Given the description of an element on the screen output the (x, y) to click on. 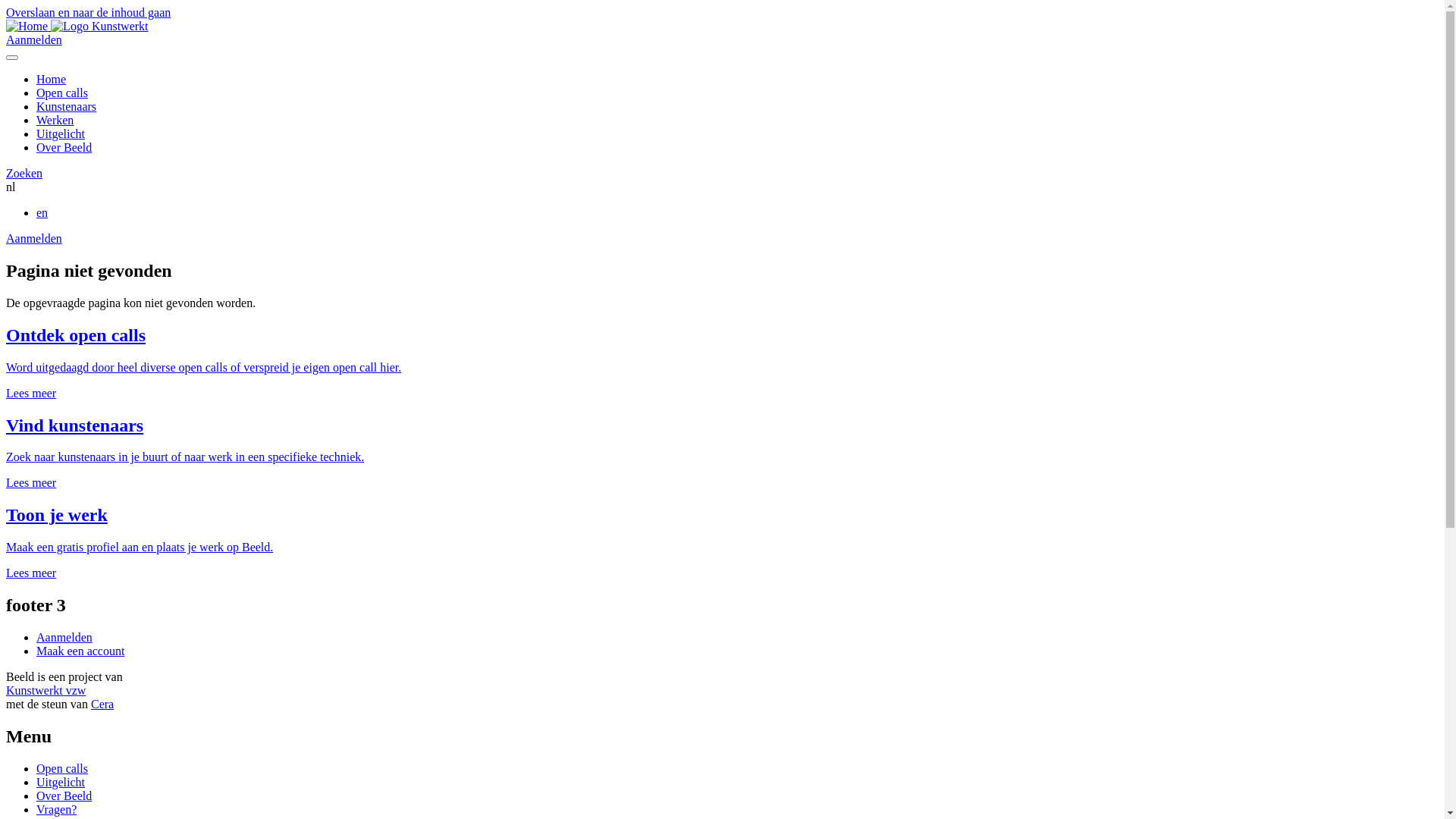
Kunstwerkt vzw Element type: text (45, 690)
Aanmelden Element type: text (34, 39)
Lees meer Element type: text (31, 392)
Open calls Element type: text (61, 92)
Uitgelicht Element type: text (60, 133)
Lees meer Element type: text (31, 572)
Aanmelden Element type: text (34, 238)
Cera Element type: text (102, 703)
Over Beeld Element type: text (63, 795)
Toon je werk Element type: text (56, 514)
Vind kunstenaars Element type: text (74, 425)
Over Beeld Element type: text (63, 147)
Overslaan en naar de inhoud gaan Element type: text (88, 12)
Maak een account Element type: text (80, 650)
Zoeken Element type: text (24, 172)
Maak een gratis profiel aan en plaats je werk op Beeld. Element type: text (139, 546)
Werken Element type: text (54, 119)
Aanmelden Element type: text (64, 636)
Vragen? Element type: text (56, 809)
Open calls Element type: text (61, 768)
en Element type: text (41, 212)
Uitgelicht Element type: text (60, 781)
Home Element type: hover (28, 25)
Lees meer Element type: text (31, 482)
Ontdek open calls Element type: text (75, 335)
Kunstenaars Element type: text (66, 106)
Home Element type: text (50, 78)
